Given the description of an element on the screen output the (x, y) to click on. 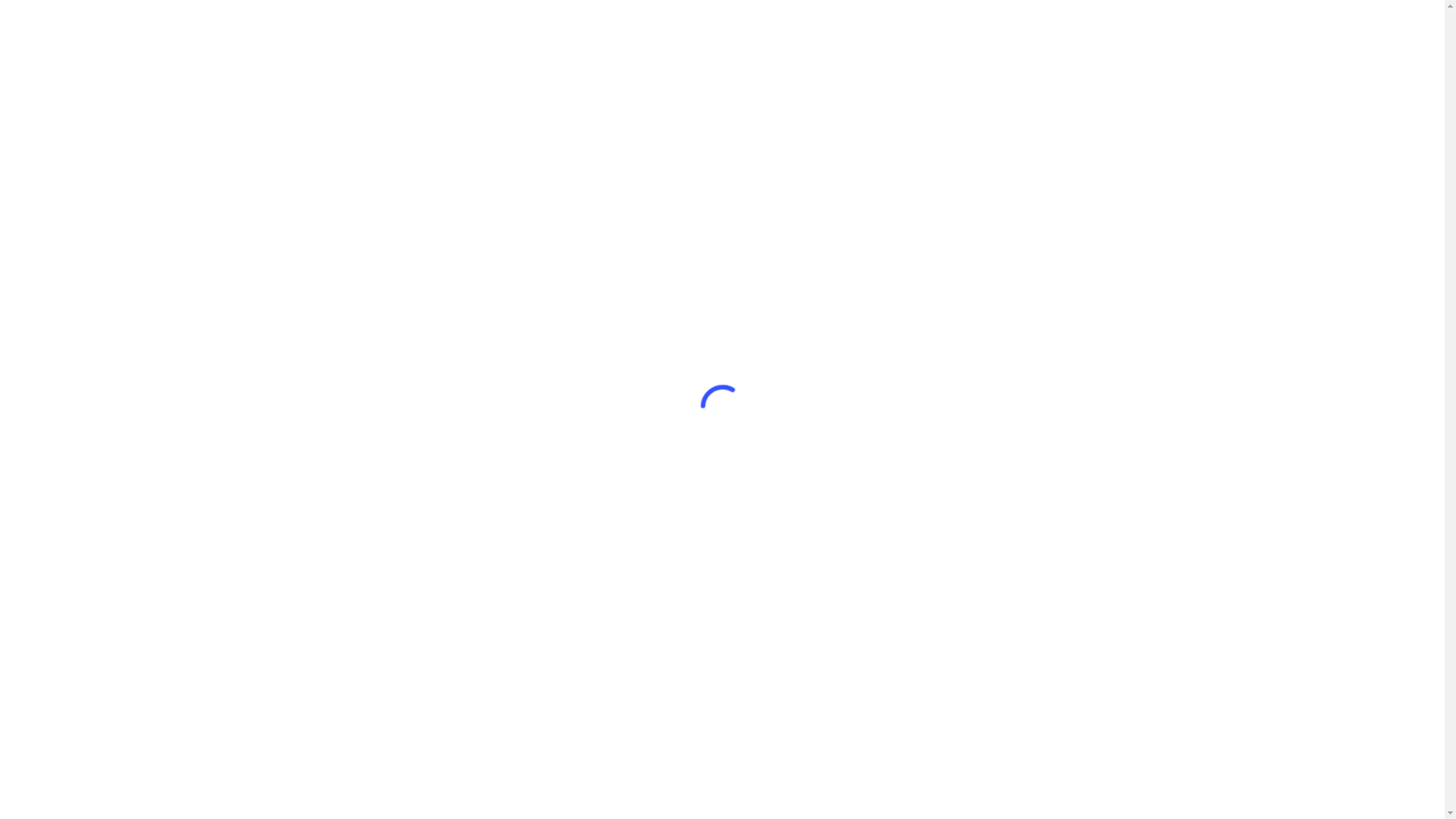
SPONSORS Element type: text (962, 41)
Log in Element type: text (1083, 535)
REGISTER Element type: text (1140, 41)
Comments feed Element type: text (1083, 585)
WordPress.org Element type: text (1083, 610)
CONTACT Element type: text (1045, 41)
Entries feed Element type: text (1083, 560)
AGENDA Element type: text (881, 41)
HOME Element type: text (814, 41)
Search for: Element type: hover (1083, 242)
